Given the description of an element on the screen output the (x, y) to click on. 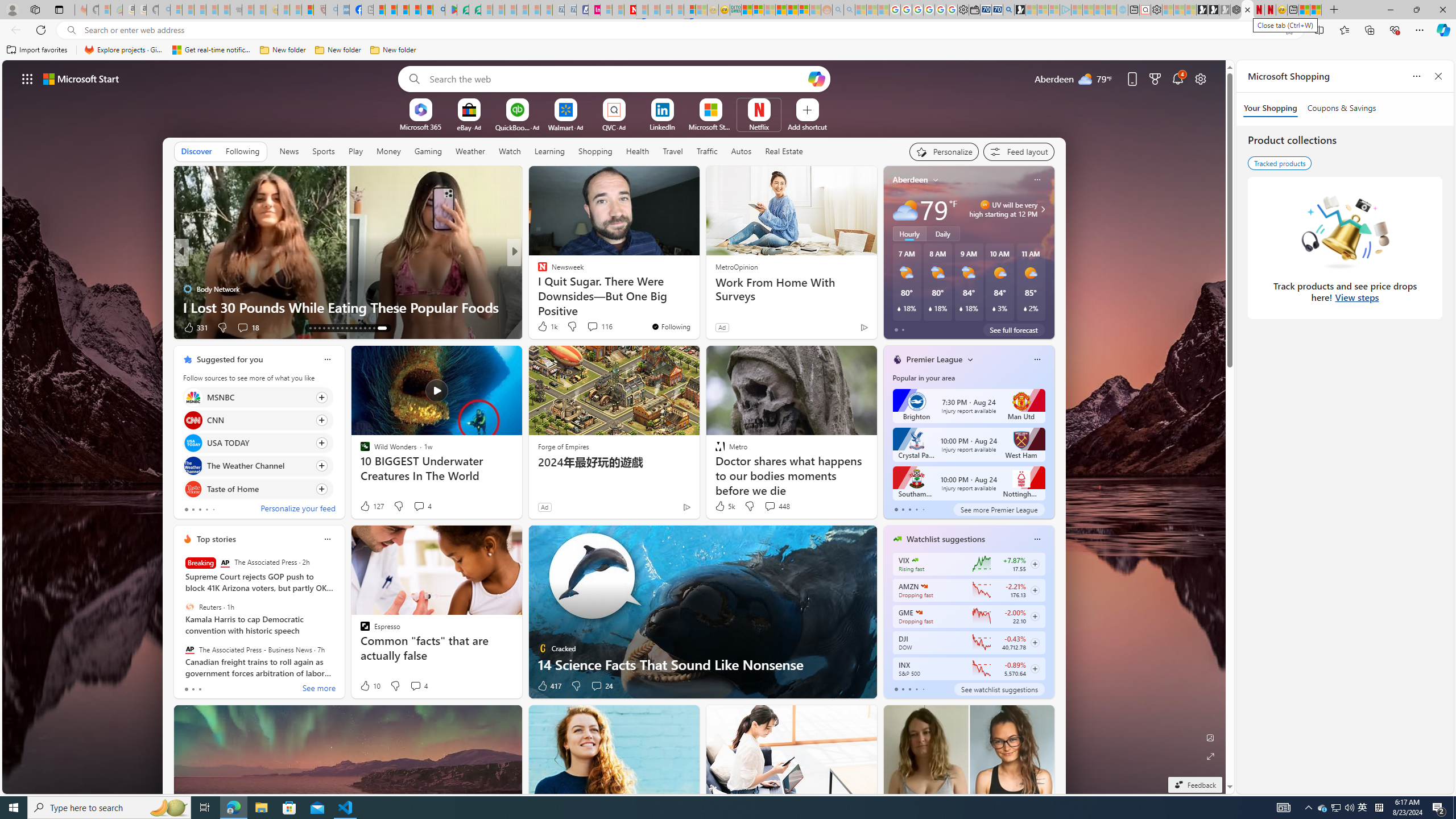
Edit Background (1210, 737)
AutomationID: tab-22 (350, 328)
Class: follow-button  m (1034, 668)
Bing Real Estate - Home sales and rental listings (1008, 9)
1k Like (546, 326)
Aberdeen (910, 179)
